Given the description of an element on the screen output the (x, y) to click on. 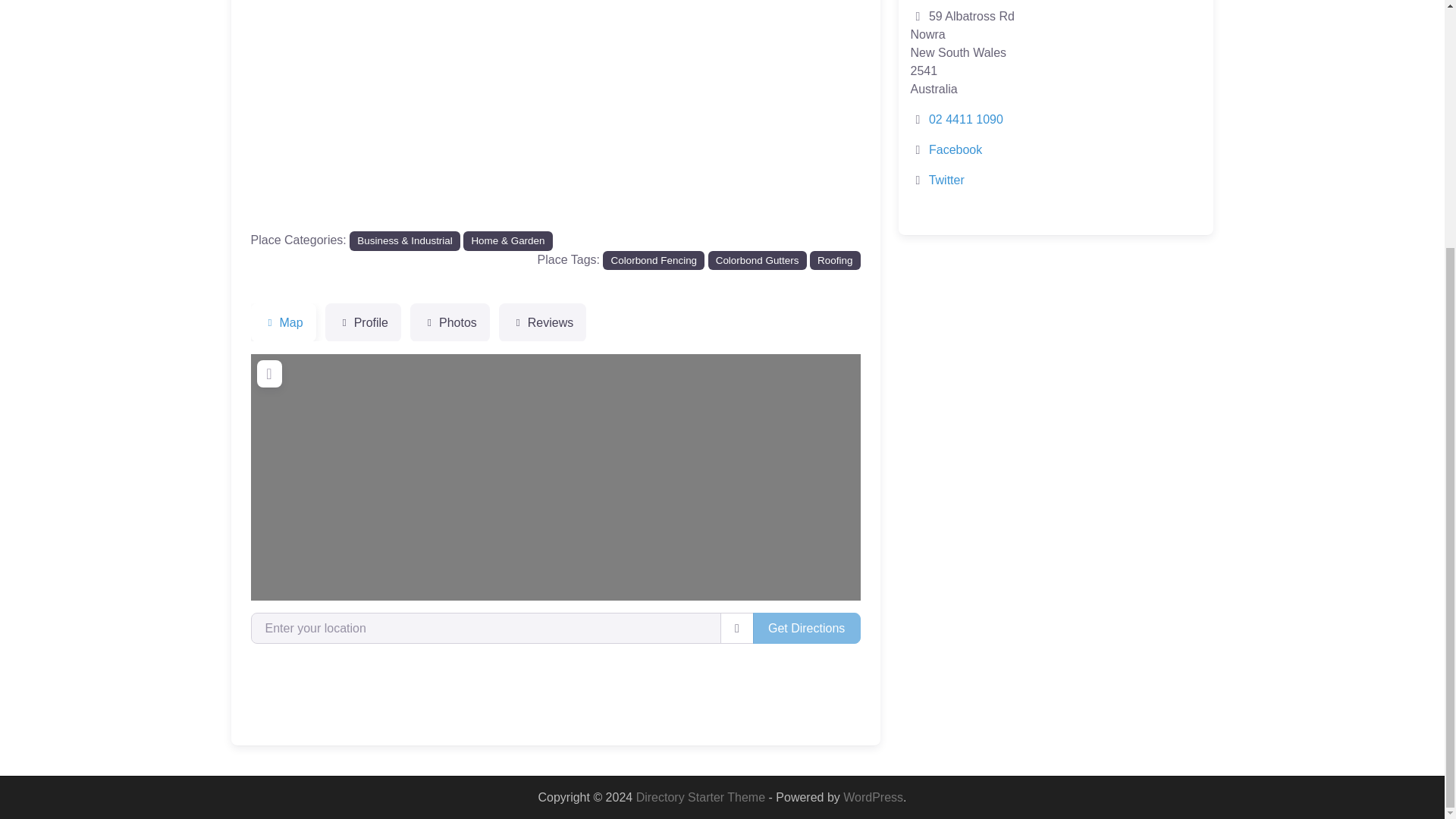
Profile (362, 323)
Roofing (834, 260)
Facebook (954, 149)
Map (282, 323)
Directory Starter Theme (702, 797)
Profile (362, 323)
WordPress (872, 797)
Twitter (945, 179)
Colorbond Fencing (653, 260)
02 4411 1090 (965, 119)
Map (282, 323)
Get Directions (806, 627)
Reviews (542, 323)
Directory Starter (702, 797)
use my location (737, 627)
